Given the description of an element on the screen output the (x, y) to click on. 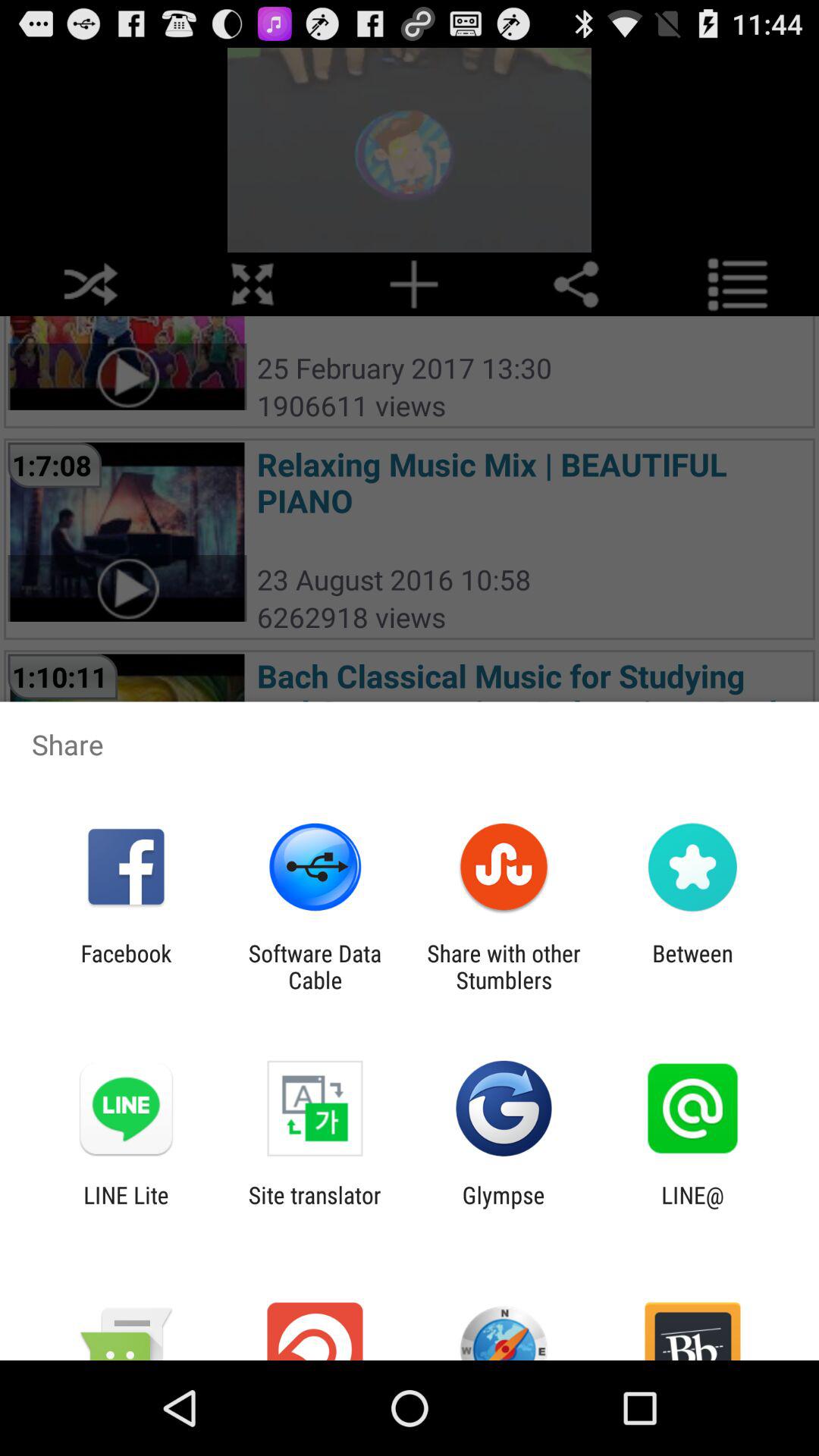
launch line lite item (125, 1208)
